Given the description of an element on the screen output the (x, y) to click on. 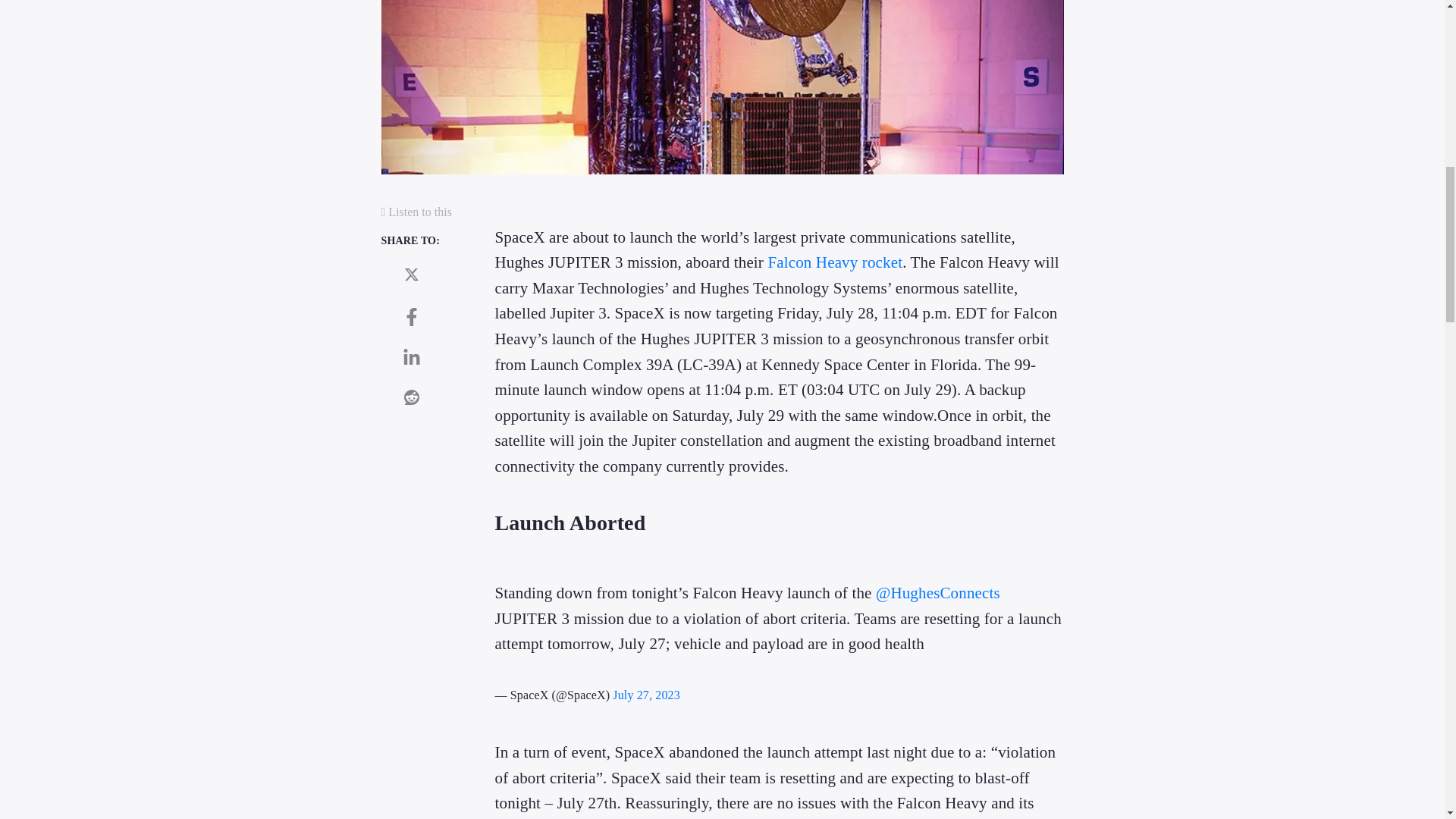
Tweet this! (411, 274)
Share on Facebook (411, 316)
